Given the description of an element on the screen output the (x, y) to click on. 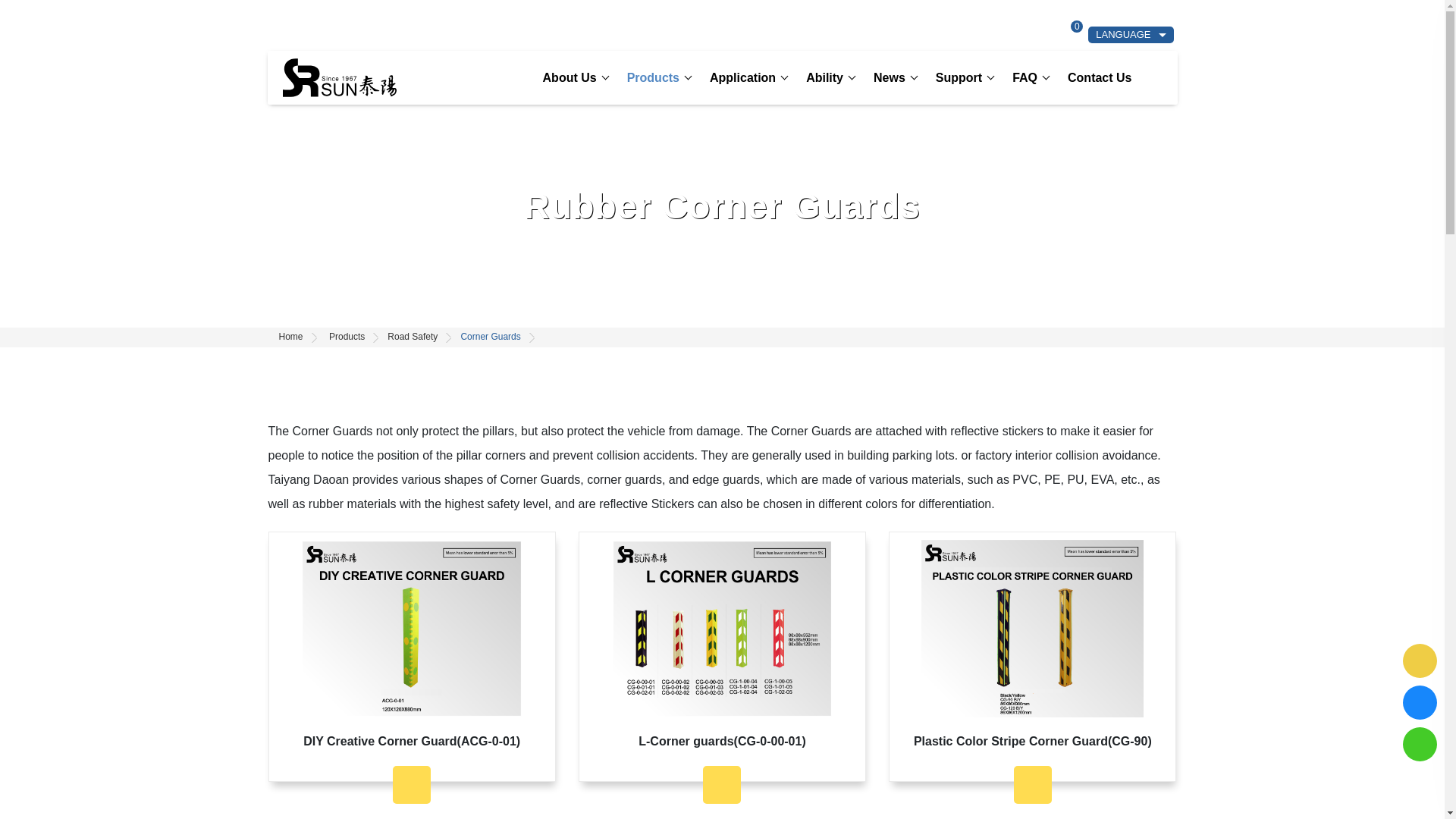
Products (653, 82)
SUN RUBBER CO., LTD. (339, 77)
INQUIRY (1052, 34)
SEARCH (986, 34)
About Us (569, 82)
886-4-2278-1058 (324, 34)
